Given the description of an element on the screen output the (x, y) to click on. 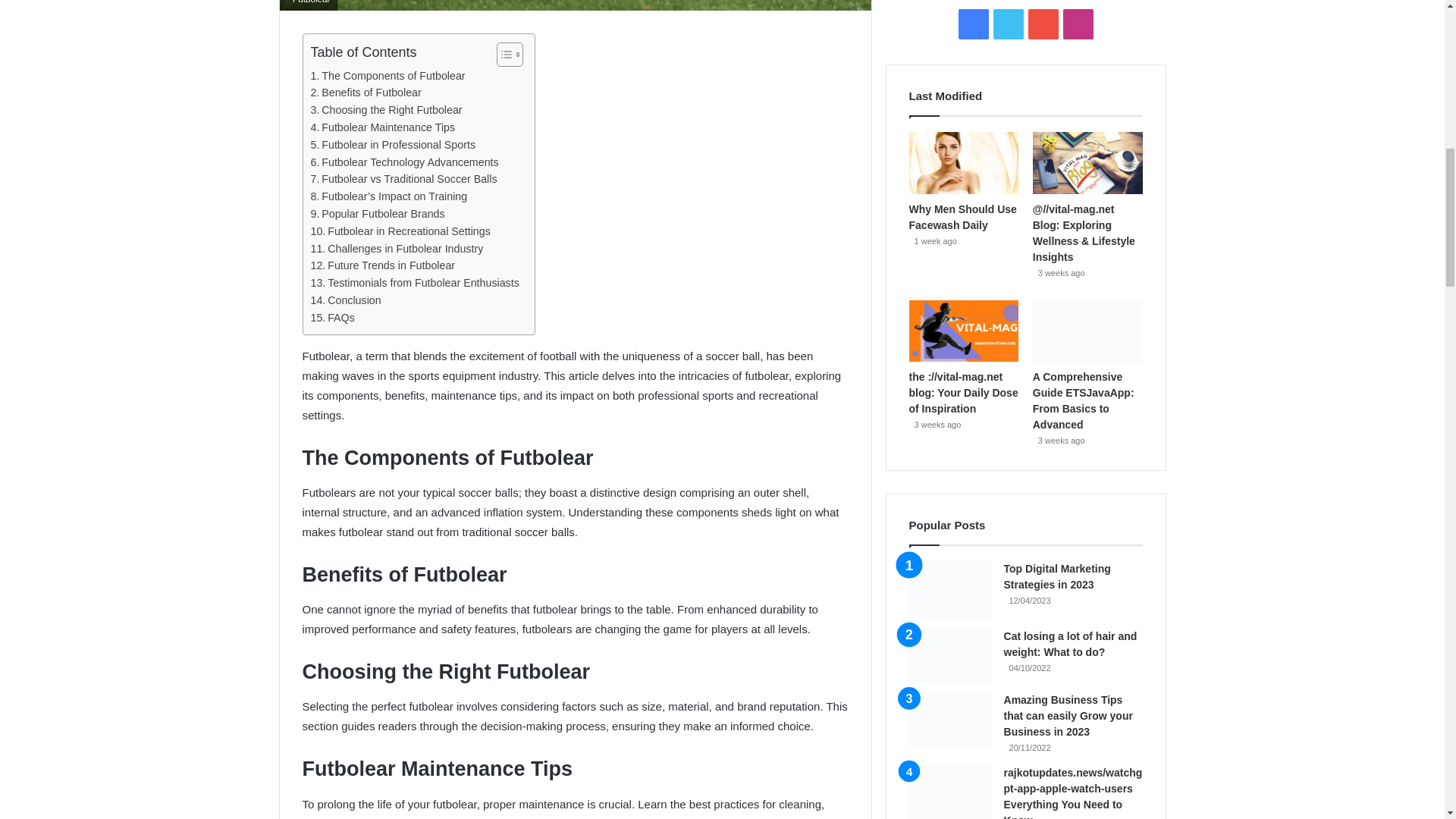
Futbolear vs Traditional Soccer Balls (404, 179)
Futbolear Technology Advancements (405, 162)
Choosing the Right Futbolear (387, 109)
The Components of Futbolear (388, 76)
Futbolear in Professional Sports (393, 144)
Benefits of Futbolear (366, 92)
Futbolear Maintenance Tips (383, 127)
